Given the description of an element on the screen output the (x, y) to click on. 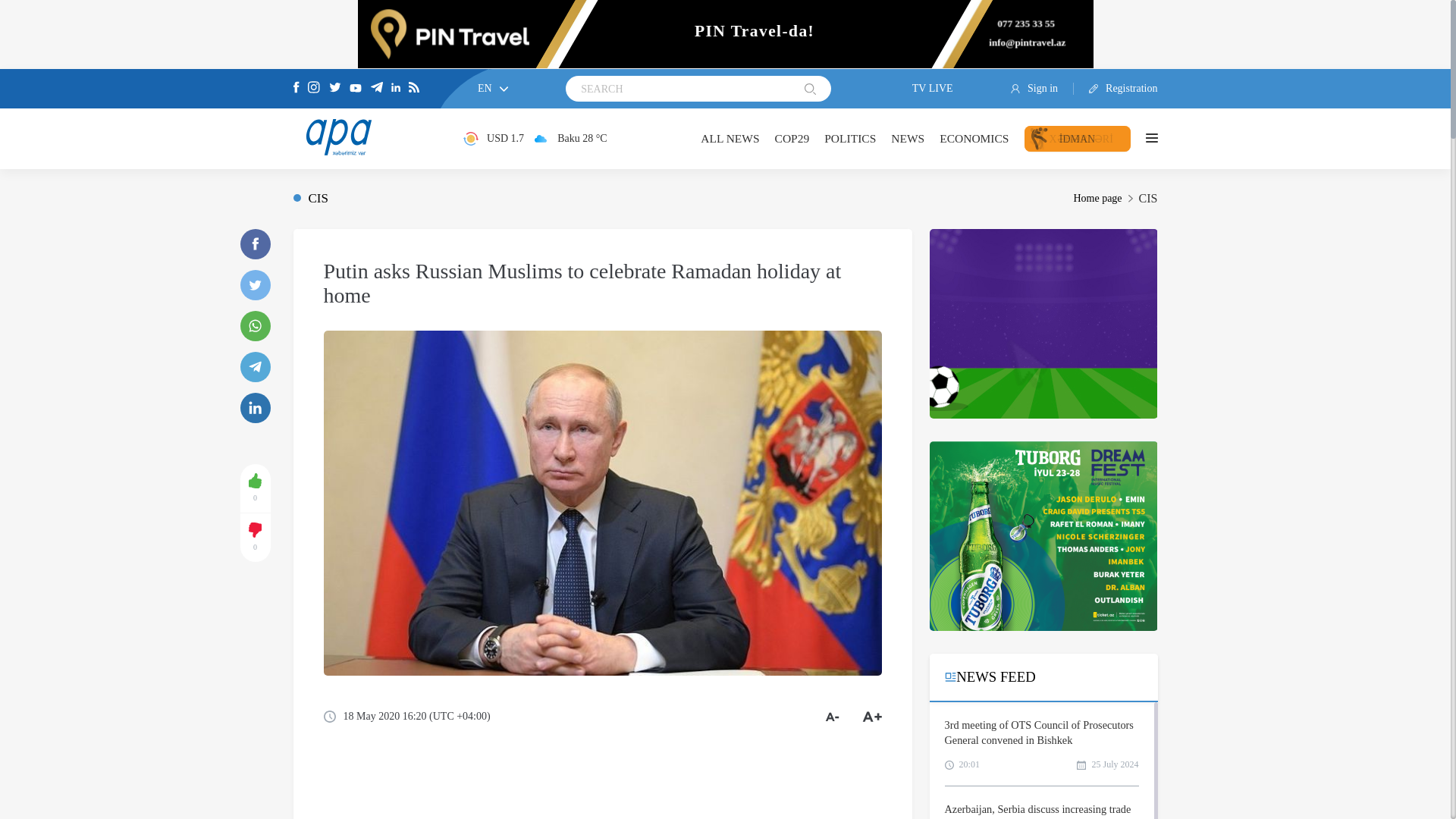
ECONOMICS (974, 138)
POLITICS (850, 138)
NEWS (907, 138)
ALL NEWS (729, 138)
Sign in (1042, 88)
Registration (1115, 88)
COP29 (791, 138)
TV LIVE (921, 88)
USD 1.7 (493, 138)
